Given the description of an element on the screen output the (x, y) to click on. 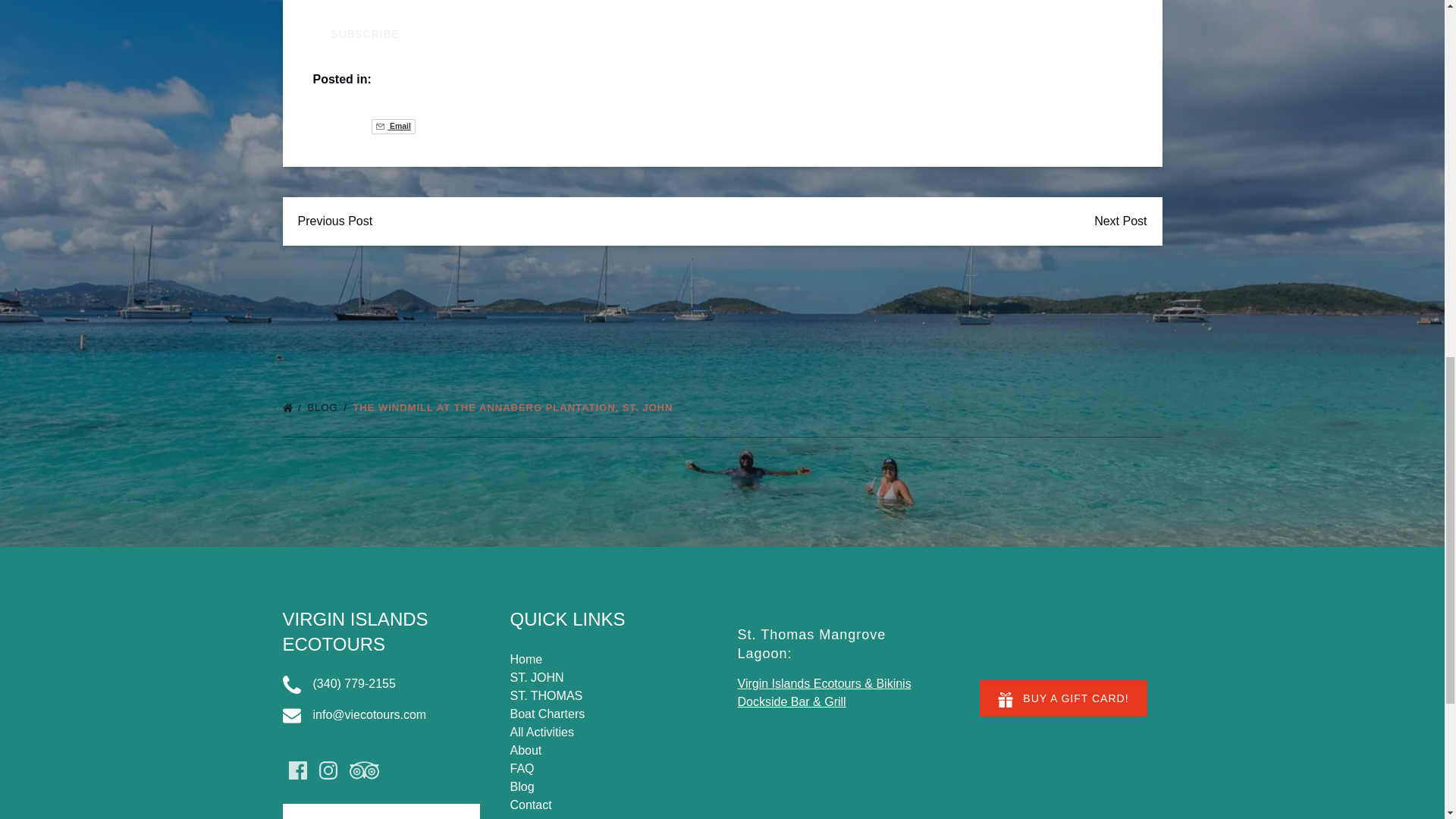
Subscribe (364, 33)
Envelope (290, 715)
Phone (290, 684)
Email (392, 126)
Subscribe (364, 33)
GIFT (1005, 699)
THE WINDMILL AT THE ANNABERG PLANTATION, ST. JOHN (516, 407)
FareHarbor (1342, 64)
Previous Post (334, 221)
BLOG (328, 407)
